Given the description of an element on the screen output the (x, y) to click on. 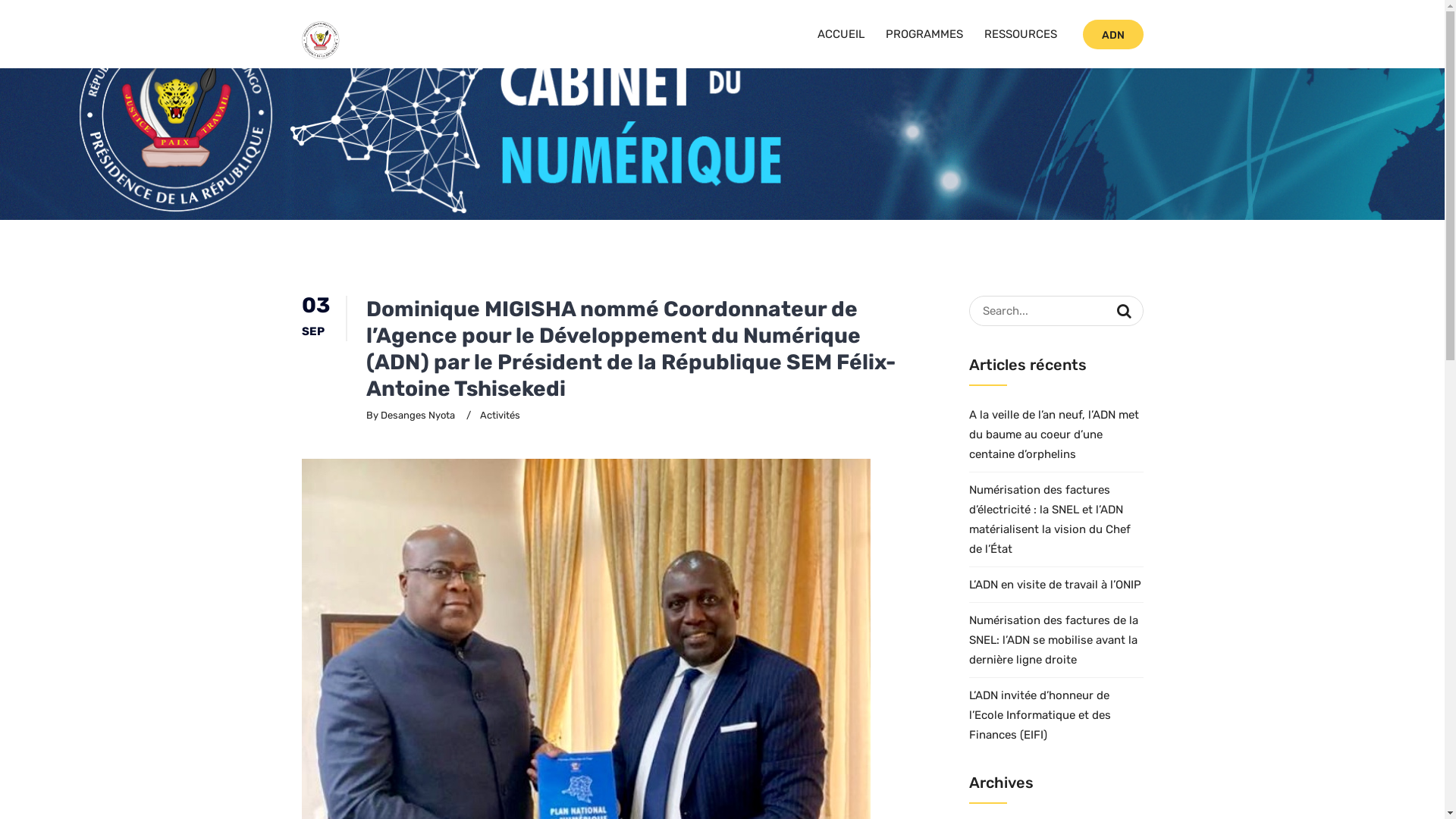
PROGRAMMES Element type: text (924, 34)
ADN Element type: text (1112, 34)
Search Element type: text (1123, 310)
RESSOURCES Element type: text (1020, 34)
ACCUEIL Element type: text (840, 34)
